Given the description of an element on the screen output the (x, y) to click on. 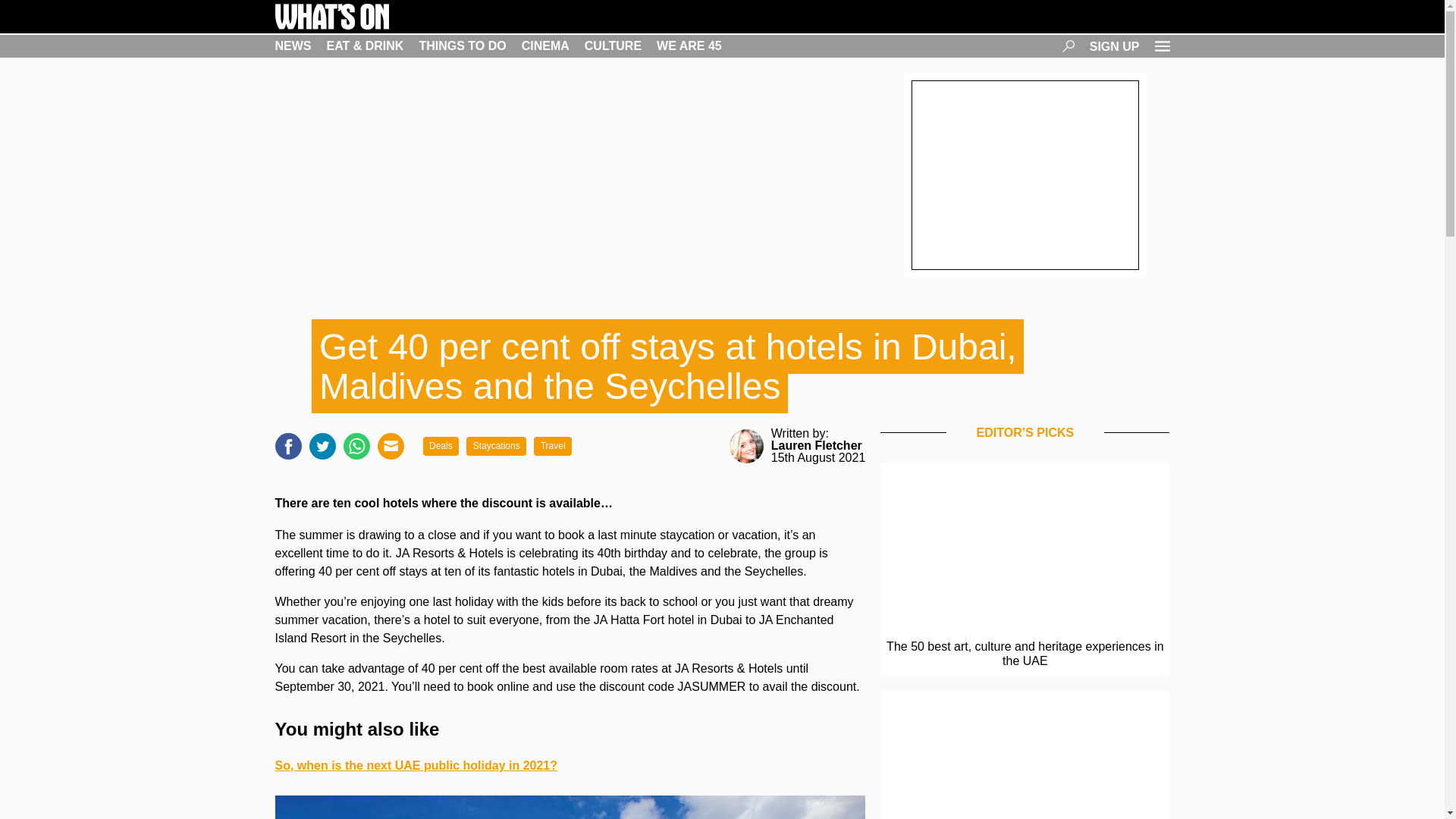
NEWS (293, 45)
WE ARE 45 (689, 45)
THINGS TO DO (462, 45)
SIGN UP (1114, 45)
CINEMA (545, 45)
CULTURE (613, 45)
